Given the description of an element on the screen output the (x, y) to click on. 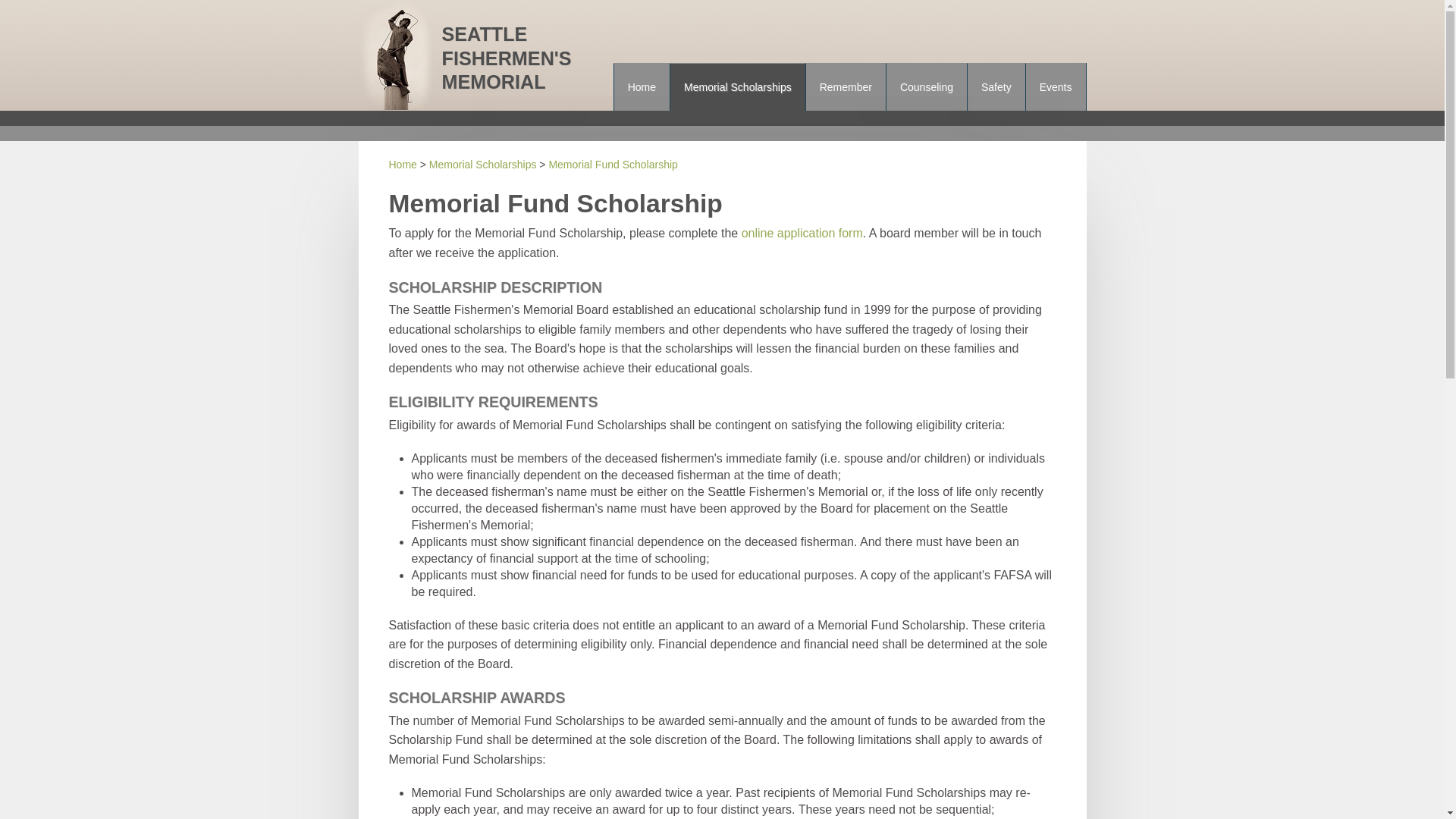
Home (402, 164)
Events (1056, 86)
SEATTLE FISHERMEN'S MEMORIAL (509, 58)
Memorial Fund Scholarship (612, 164)
Seattle Fishermen's Memorial (509, 58)
online application form (802, 232)
Home (641, 86)
Counseling (926, 86)
Memorial Scholarships (483, 164)
Safety (996, 86)
Memorial Scholarships (737, 86)
Remember (845, 86)
